Given the description of an element on the screen output the (x, y) to click on. 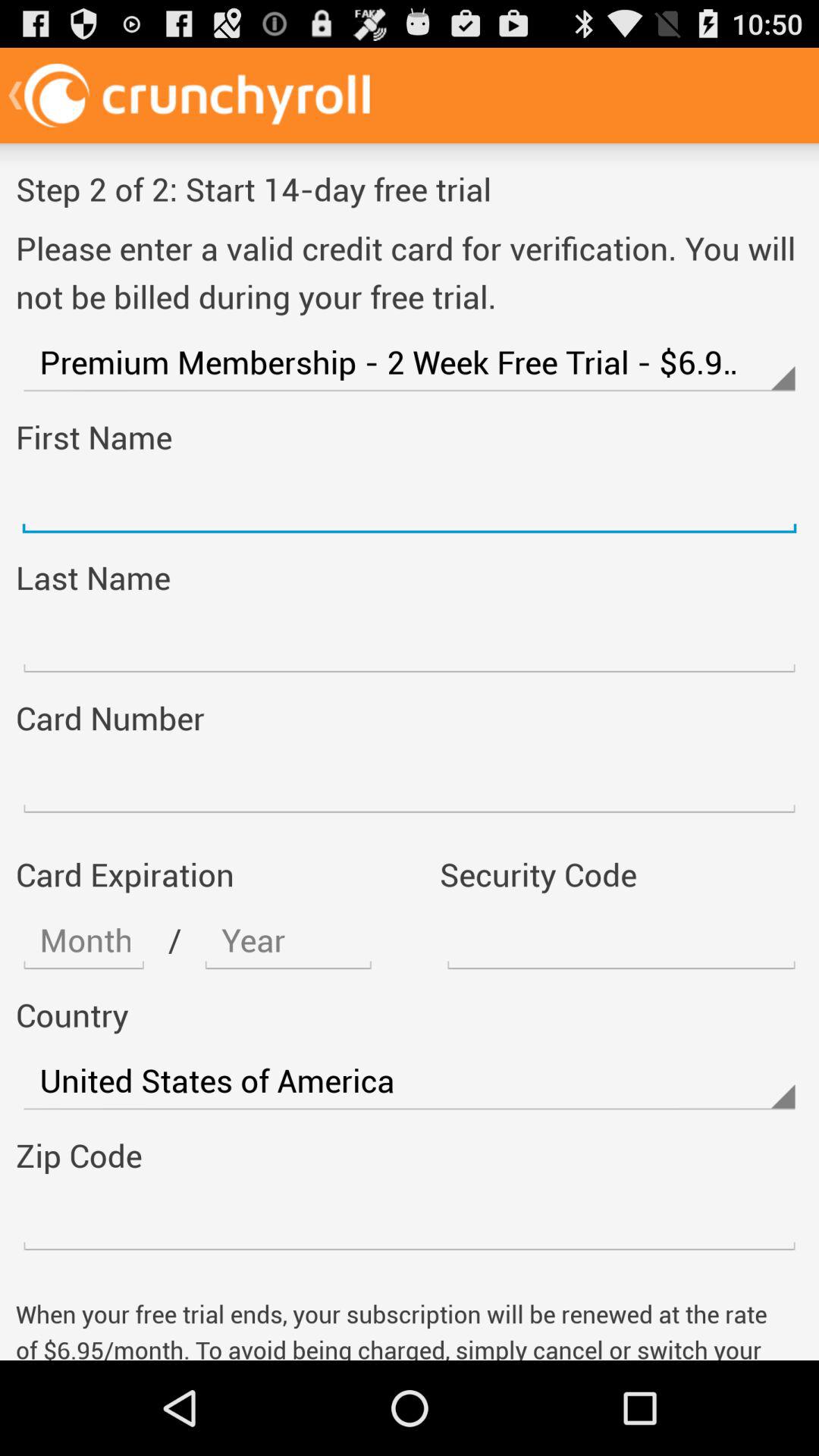
enter your last name (409, 643)
